Given the description of an element on the screen output the (x, y) to click on. 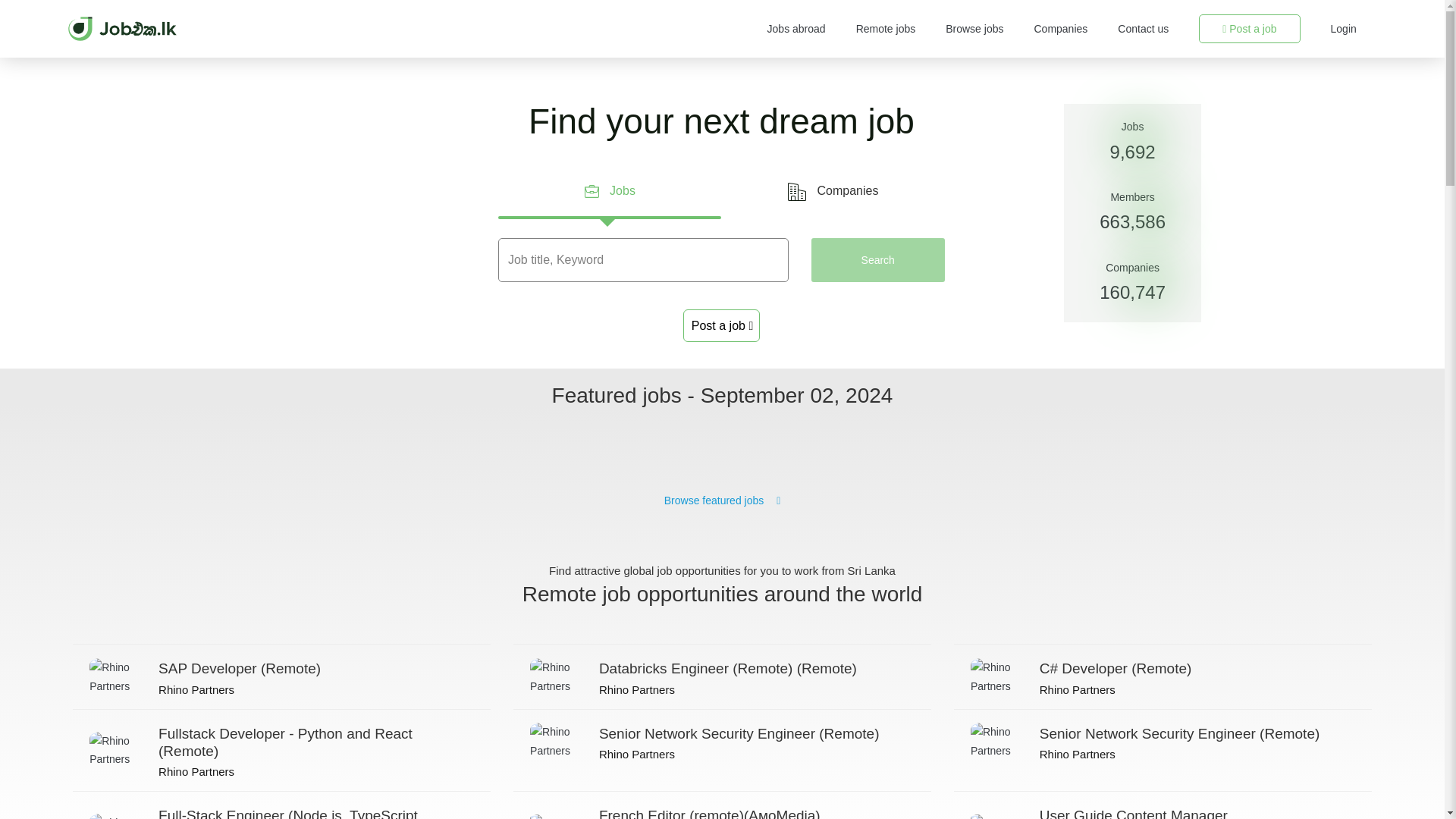
Browse jobs (973, 28)
Search (877, 259)
Companies (1060, 28)
Jobs (608, 191)
Jobs abroad (796, 28)
Post a job (1249, 28)
Browse featured jobs (722, 500)
Remote jobs (885, 28)
Search (877, 269)
Login (1343, 28)
